Given the description of an element on the screen output the (x, y) to click on. 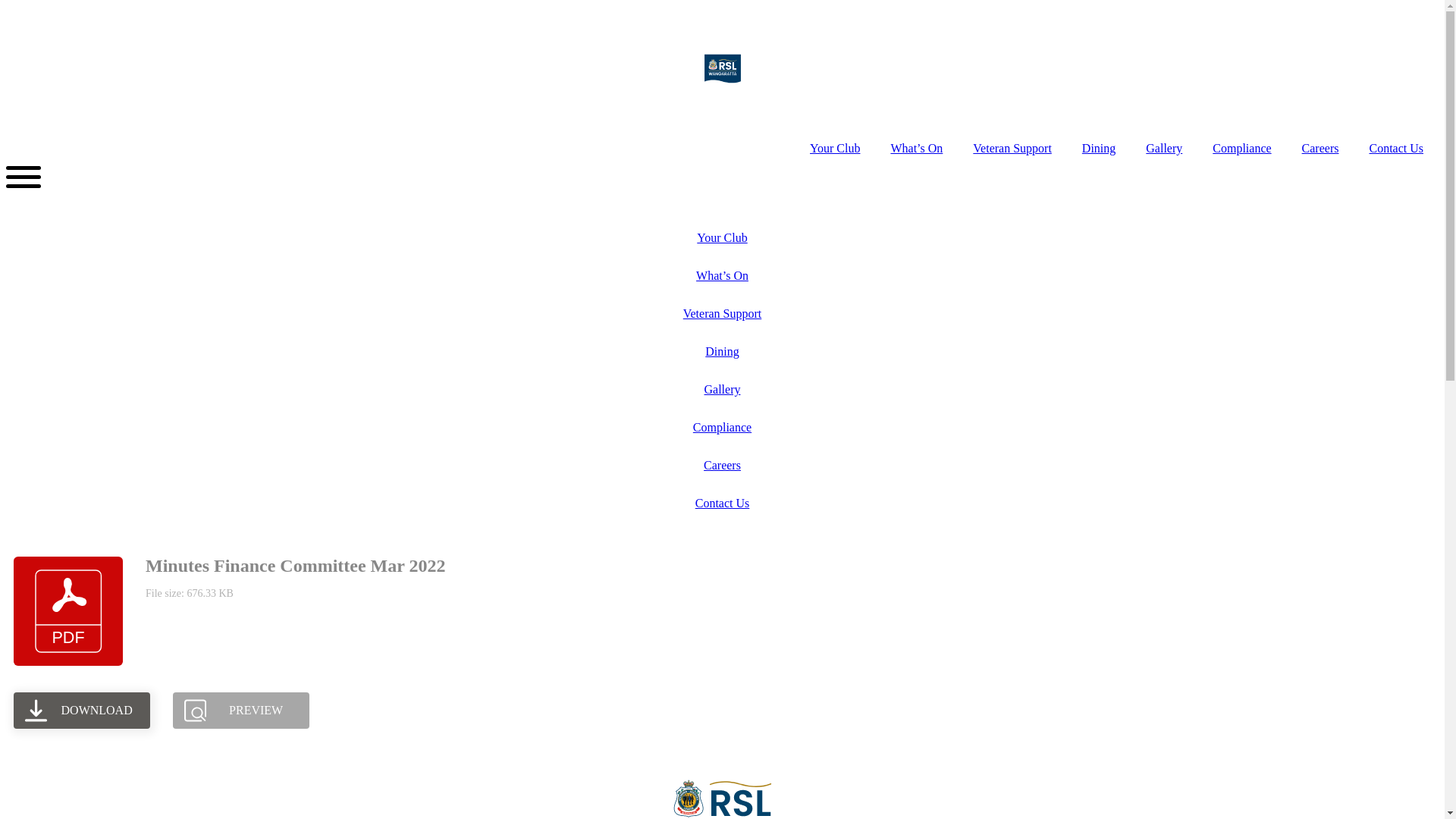
PREVIEW Element type: text (240, 710)
Dining Element type: text (722, 351)
Contact Us Element type: text (1395, 148)
Veteran Support Element type: text (722, 313)
Your Club Element type: text (722, 237)
DOWNLOAD Element type: text (81, 710)
Dining Element type: text (1098, 148)
Gallery Element type: text (1163, 148)
Gallery Element type: text (722, 389)
Careers Element type: text (722, 465)
Skip to content Element type: text (5, 5)
Contact Us Element type: text (722, 503)
Compliance Element type: text (722, 427)
Careers Element type: text (1320, 148)
Compliance Element type: text (1241, 148)
Veteran Support Element type: text (1011, 148)
Your Club Element type: text (834, 148)
